Given the description of an element on the screen output the (x, y) to click on. 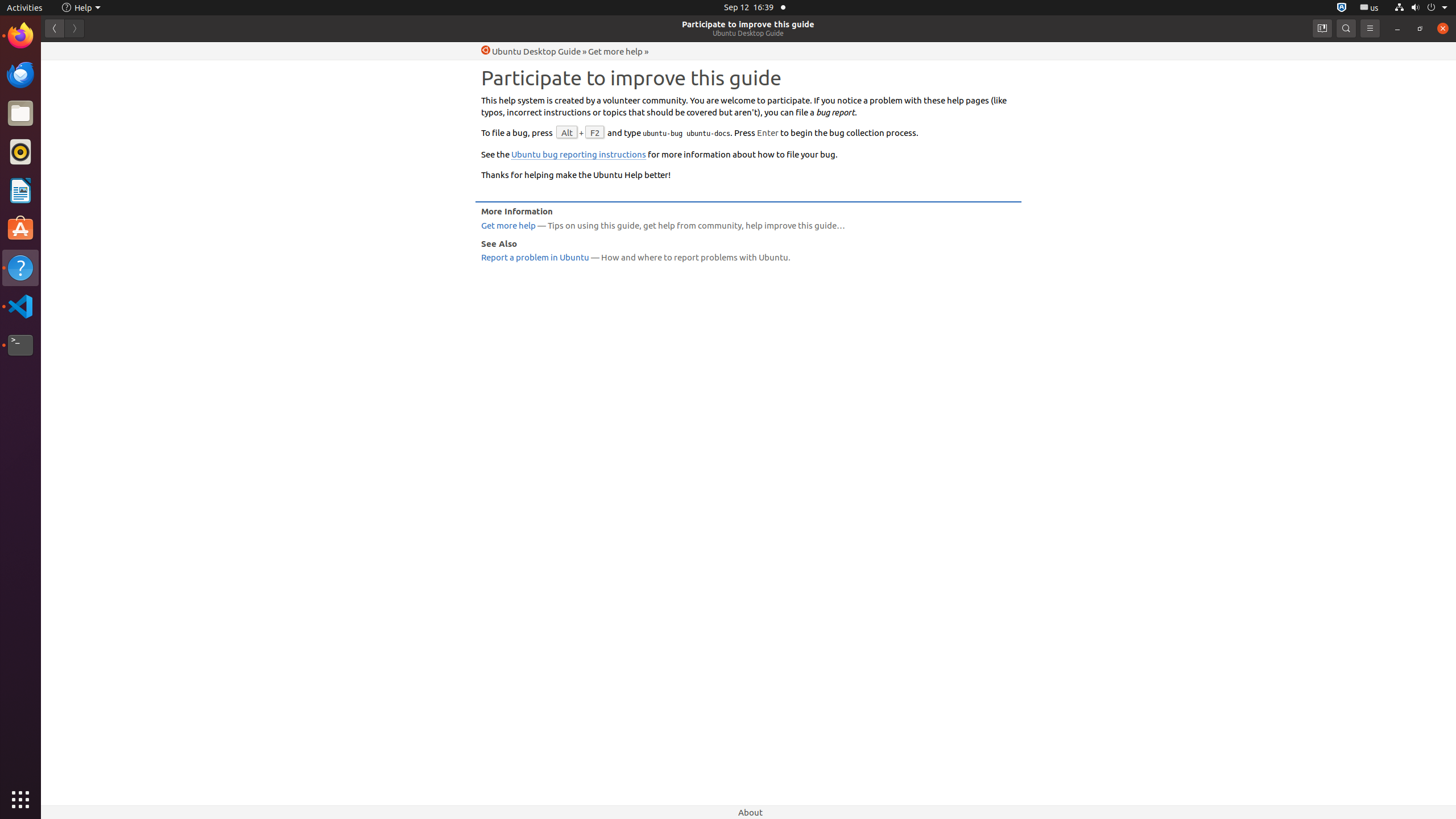
Terminal Element type: push-button (20, 344)
Help Ubuntu Desktop Guide Element type: link (530, 50)
luyi1 Element type: label (75, 50)
Trash Element type: label (75, 108)
Close Element type: push-button (1442, 27)
